Given the description of an element on the screen output the (x, y) to click on. 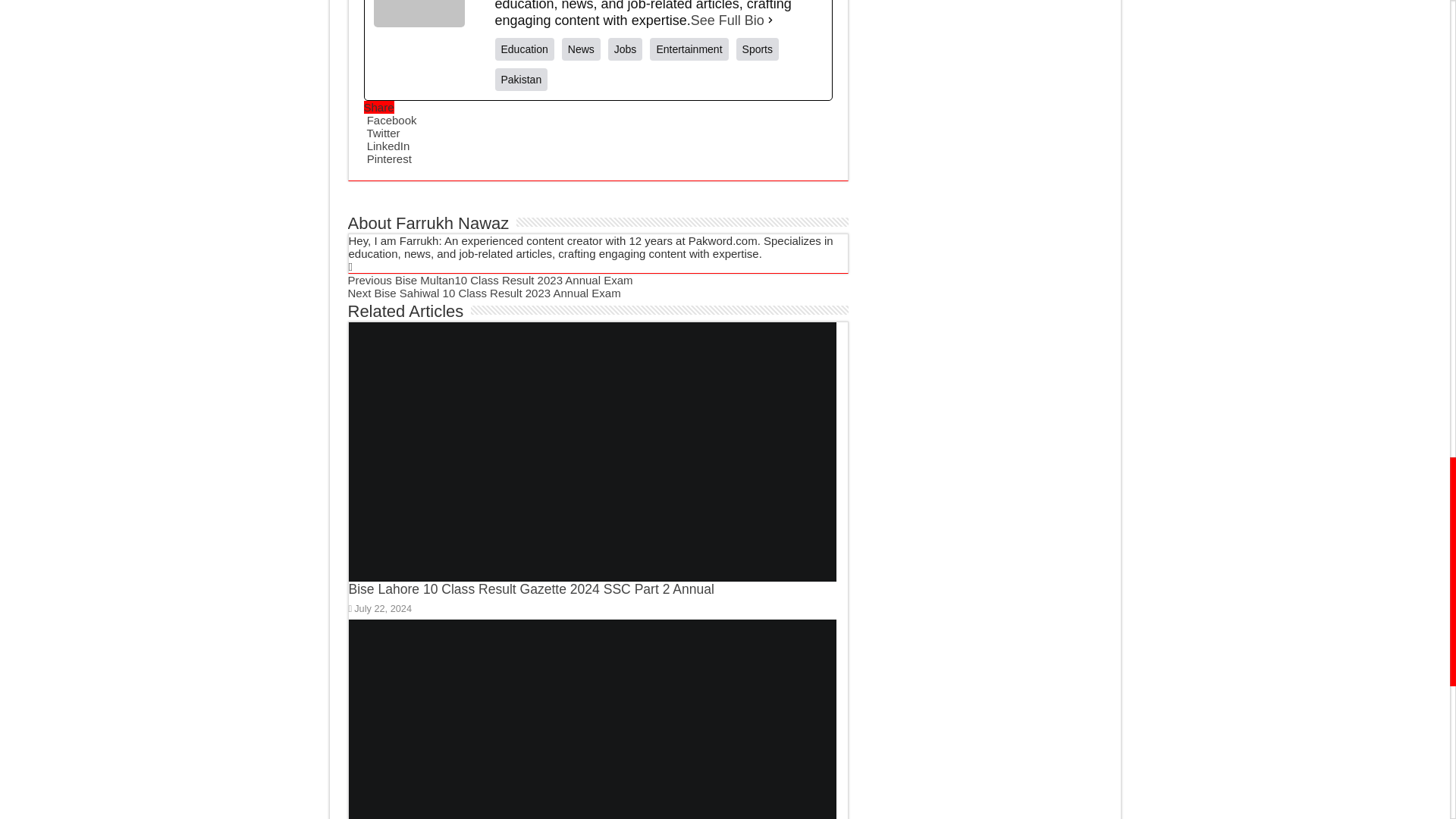
See Full Bio (727, 20)
